Given the description of an element on the screen output the (x, y) to click on. 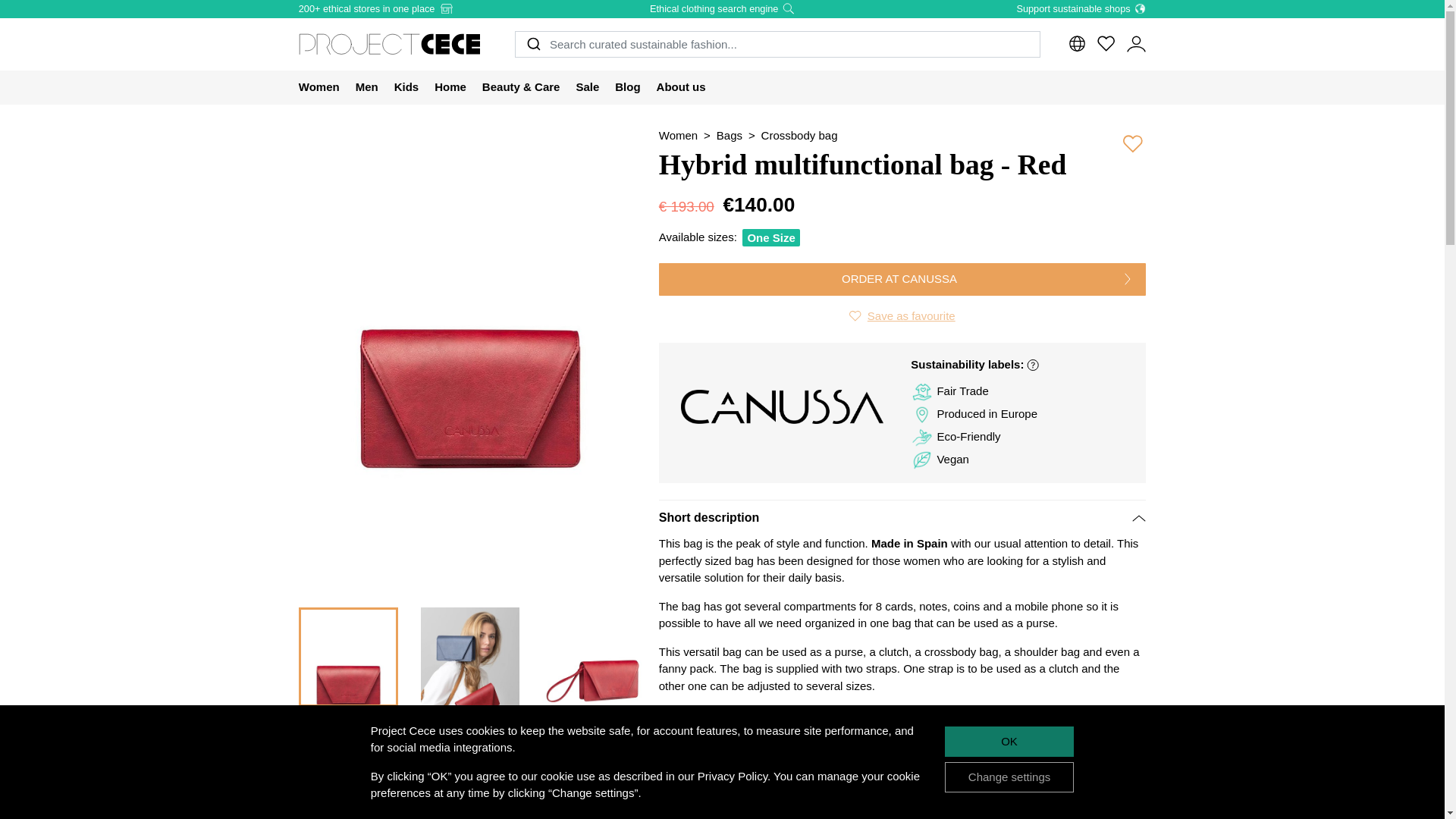
Support sustainable shops (1080, 8)
Hybrid multifunctional bag - Red from CANUSSA (469, 774)
Ethical clothing search engine (721, 8)
Hybrid multifunctional bag - Red from CANUSSA (347, 656)
Submit (532, 43)
Hybrid multifunctional bag - Red from CANUSSA (591, 774)
Hybrid multifunctional bag - Red from CANUSSA (469, 656)
Hybrid multifunctional bag - Red from CANUSSA (347, 774)
Hybrid multifunctional bag - Red from CANUSSA (591, 656)
